Given the description of an element on the screen output the (x, y) to click on. 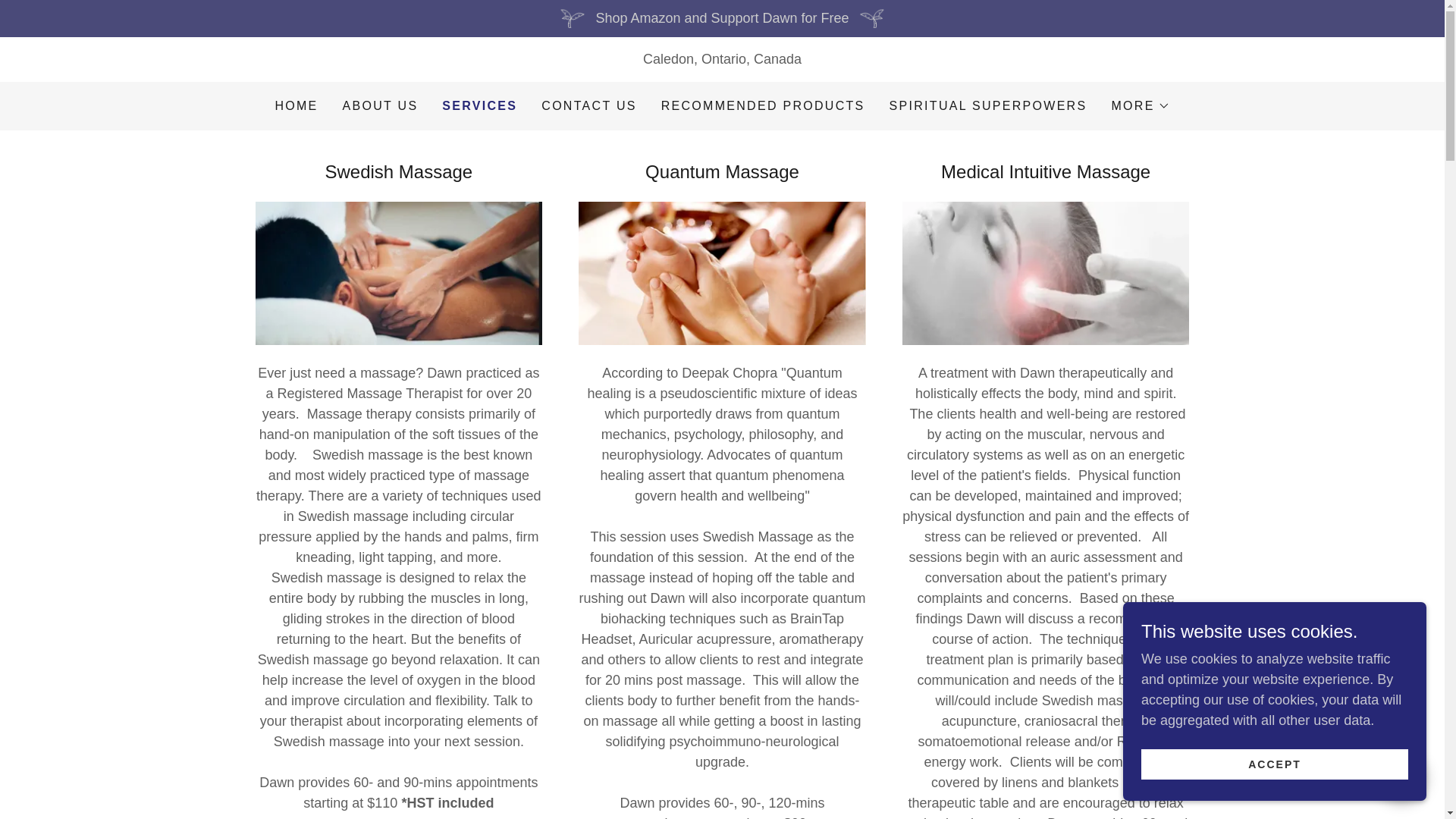
HOME Element type: text (295, 105)
SPIRITUAL SUPERPOWERS Element type: text (988, 105)
ACCEPT Element type: text (1274, 764)
RECOMMENDED PRODUCTS Element type: text (762, 105)
Shop Amazon and Support Dawn for Free Element type: text (722, 18)
SERVICES Element type: text (479, 106)
MORE Element type: text (1139, 106)
CONTACT US Element type: text (588, 105)
ABOUT US Element type: text (380, 105)
